Given the description of an element on the screen output the (x, y) to click on. 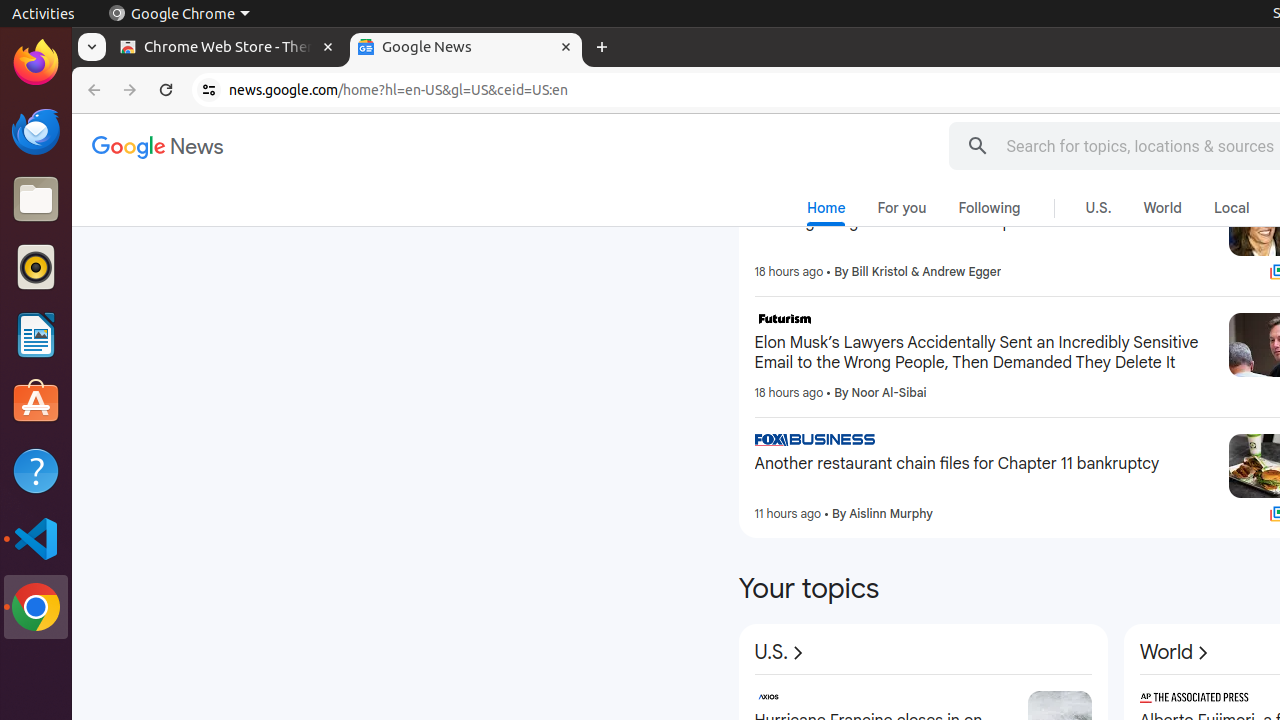
More - Hurricane Francine closes in on Louisiana, including New Orleans Element type: push-button (1005, 700)
Files Element type: push-button (36, 199)
World Element type: menu-item (1162, 208)
U.S. Element type: menu-item (1098, 208)
Another restaurant chain files for Chapter 11 bankruptcy Element type: link (983, 464)
